Given the description of an element on the screen output the (x, y) to click on. 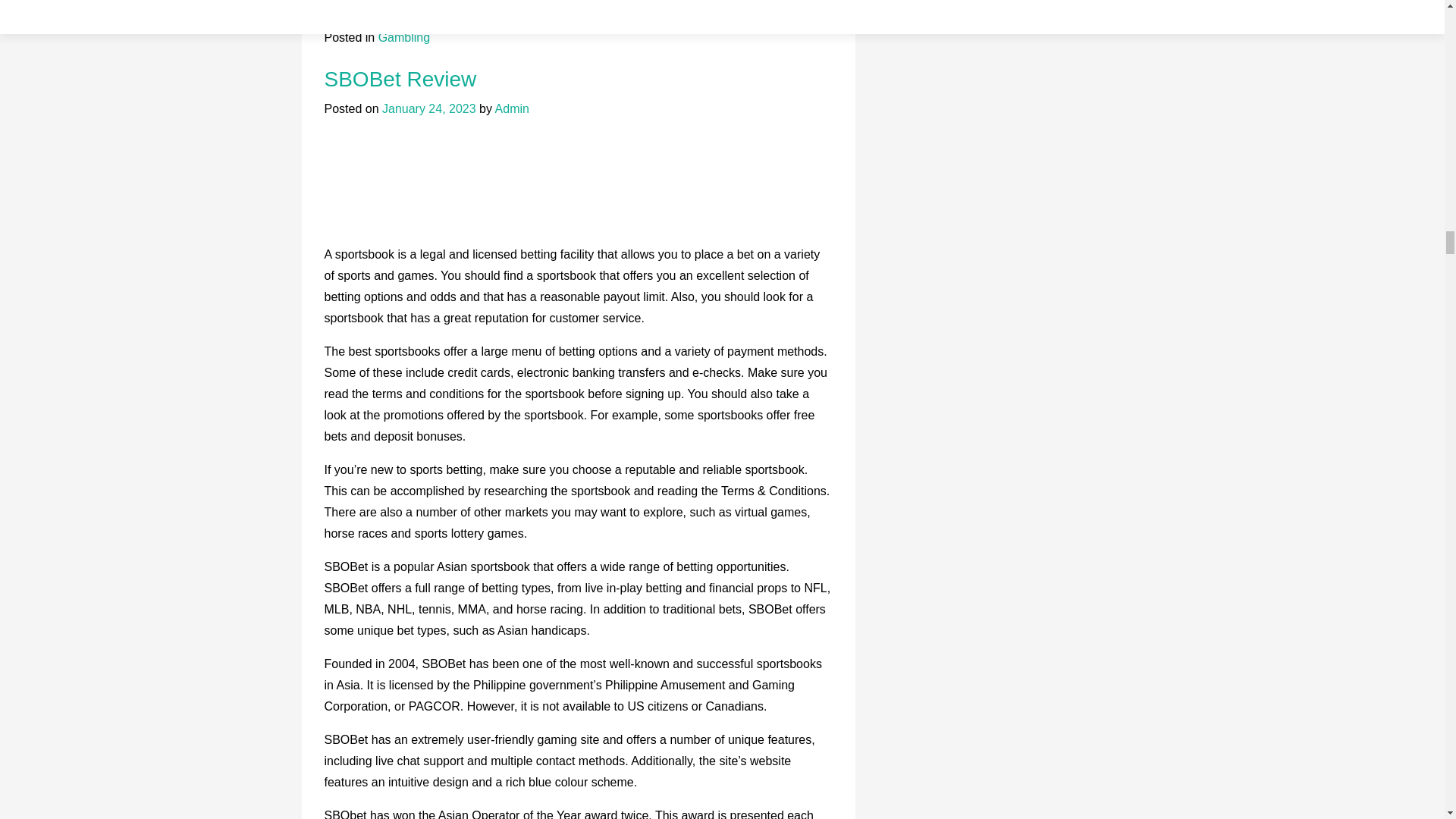
Gambling (403, 37)
Admin (512, 108)
SBOBet Review (400, 78)
January 24, 2023 (428, 108)
